Given the description of an element on the screen output the (x, y) to click on. 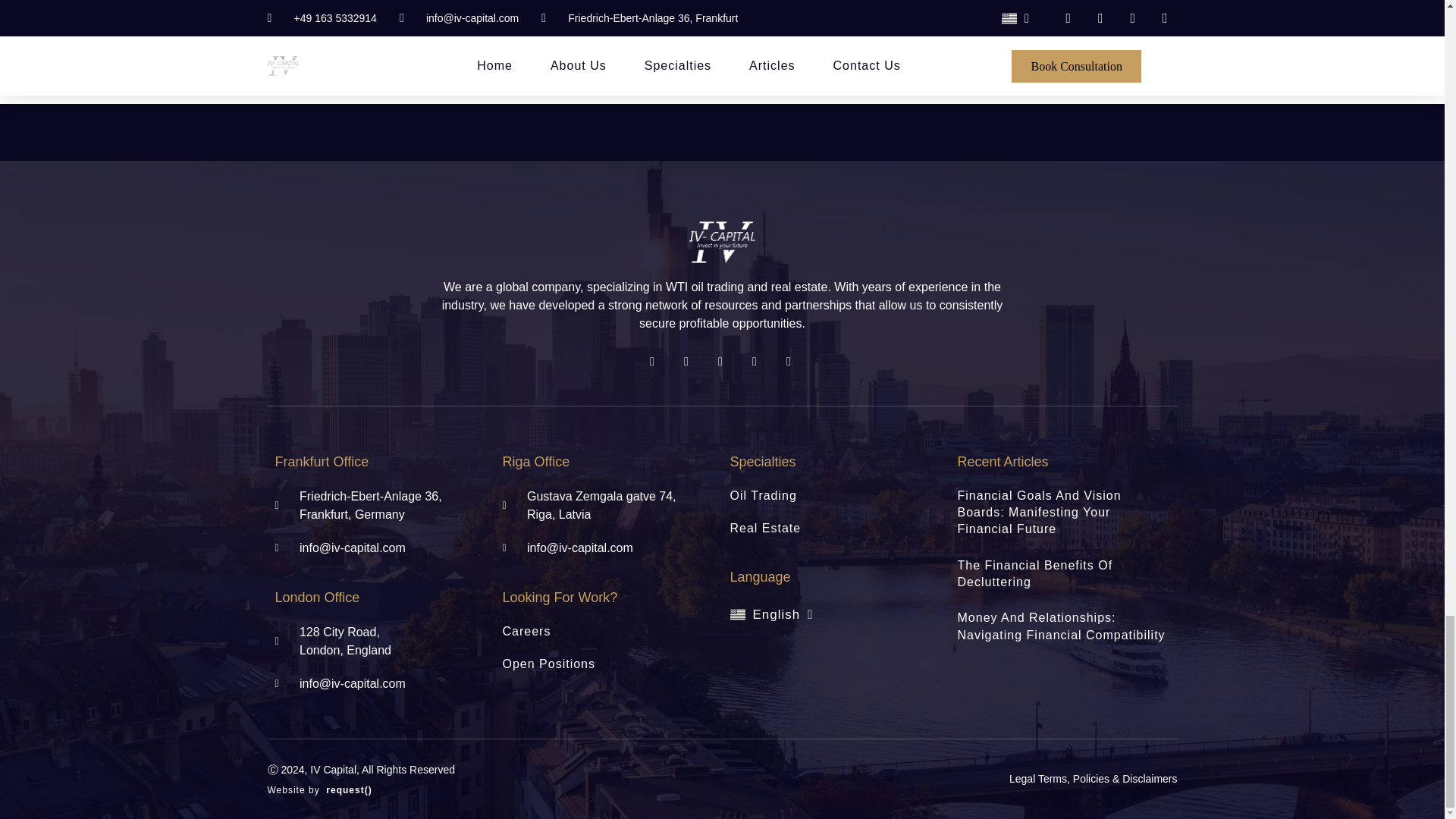
iv-capital-logo-white-1 (721, 241)
